Given the description of an element on the screen output the (x, y) to click on. 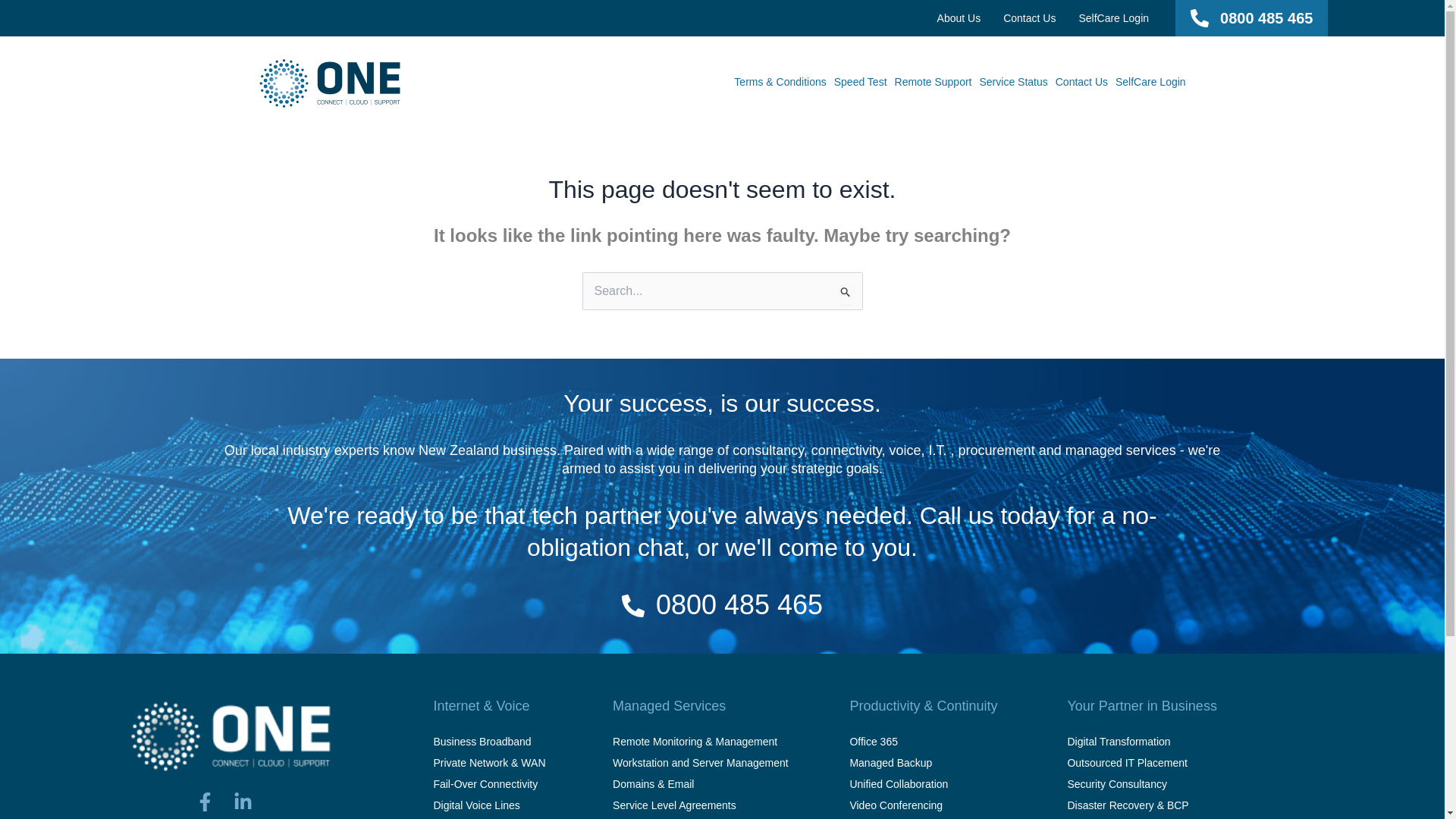
Speed Test (860, 81)
0800 485 465 (739, 603)
Remote Support (933, 81)
Digital Voice Lines (488, 804)
Facebook-f (213, 805)
About Us (959, 18)
0800 485 465 (1266, 17)
Device Security (700, 817)
Linkedin-in (251, 805)
Fail-Over Connectivity (488, 783)
